Given the description of an element on the screen output the (x, y) to click on. 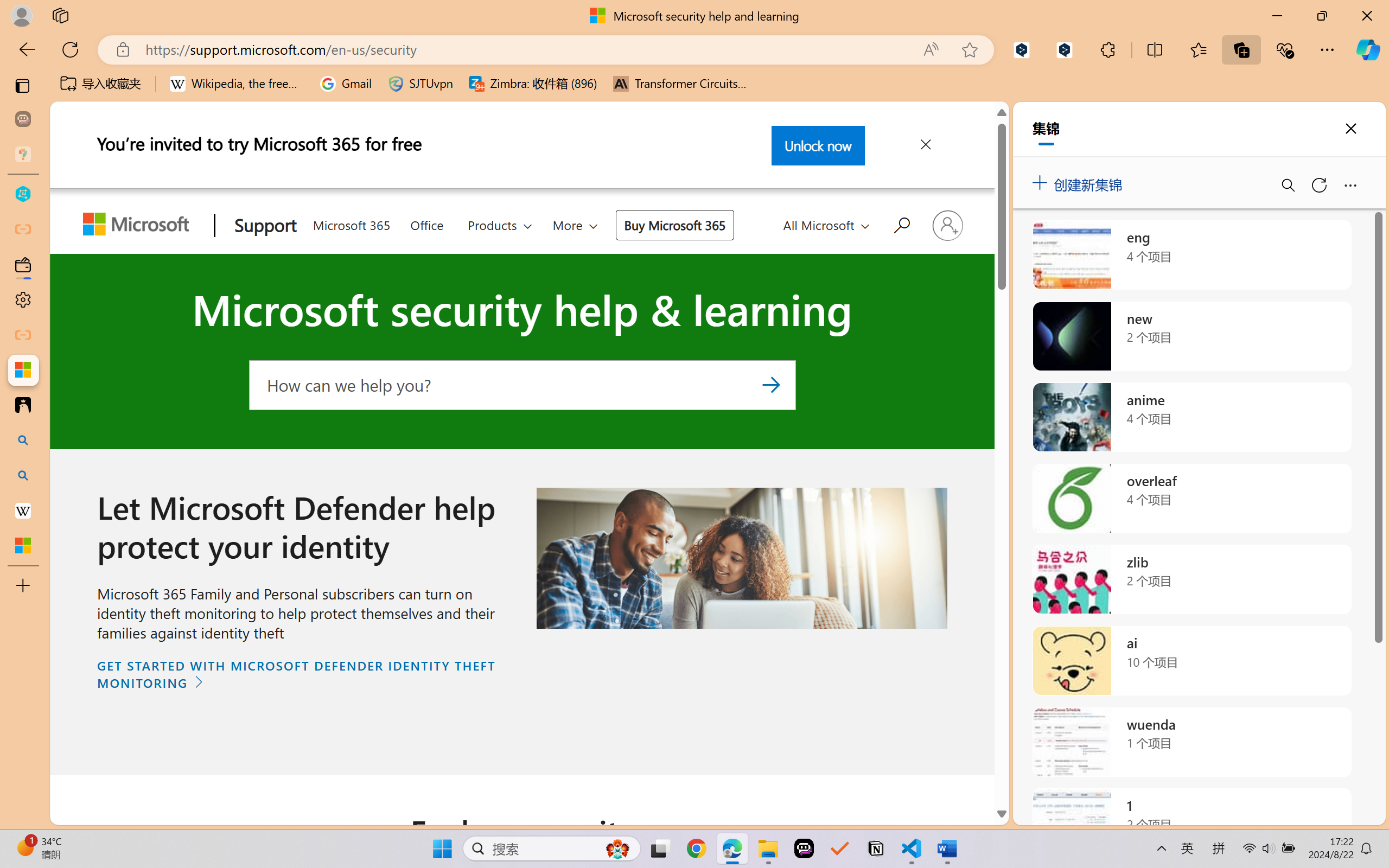
Microsoft 365 (351, 222)
Office (426, 223)
Close Ad (924, 146)
Microsoft 365 (351, 223)
Buy Microsoft 365 (674, 224)
